Given the description of an element on the screen output the (x, y) to click on. 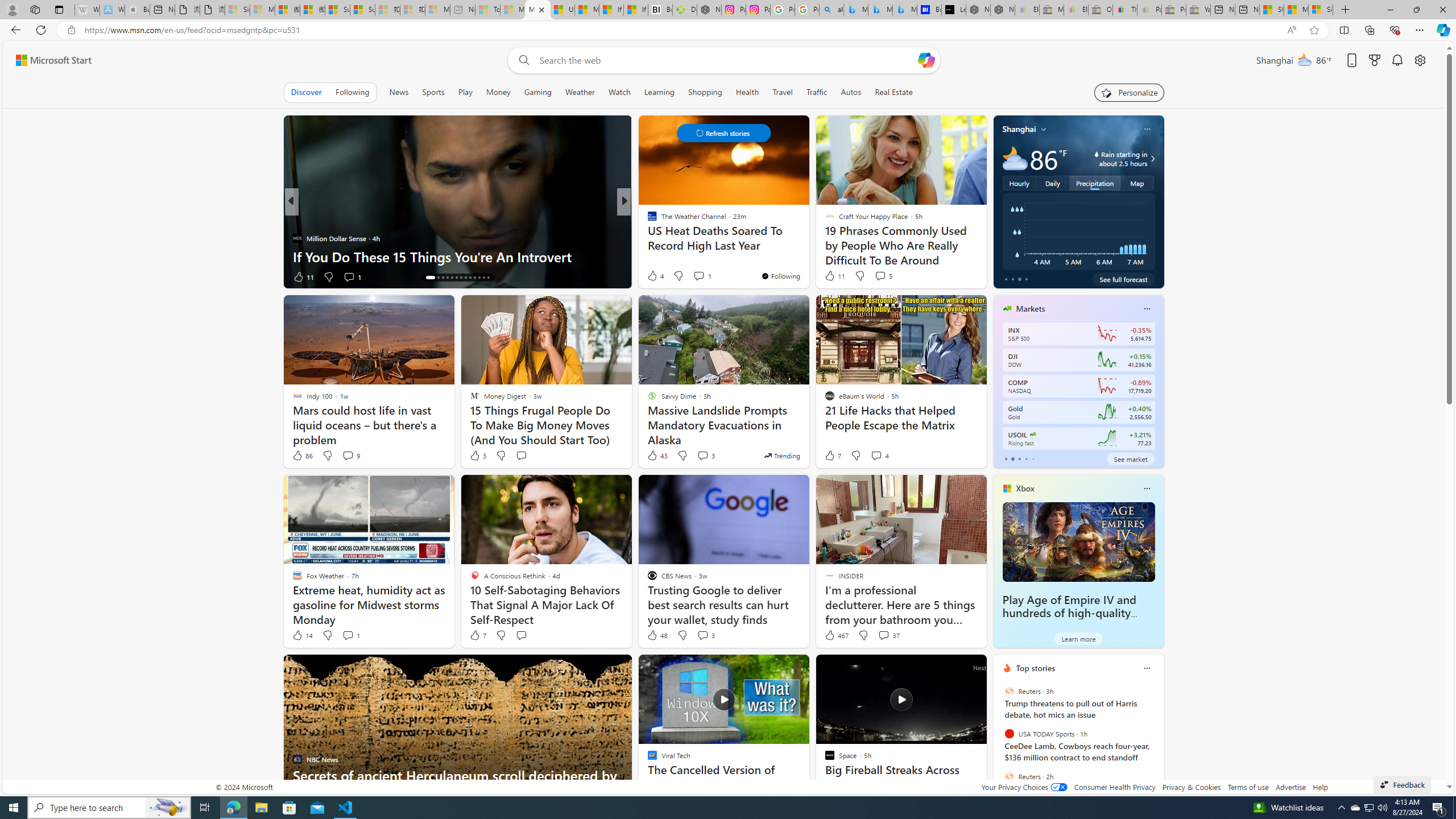
Microsoft Services Agreement - Sleeping (261, 9)
View comments 53 Comment (703, 276)
AutomationID: tab-17 (446, 277)
Marine life - MSN - Sleeping (512, 9)
7 Like (477, 634)
